Given the description of an element on the screen output the (x, y) to click on. 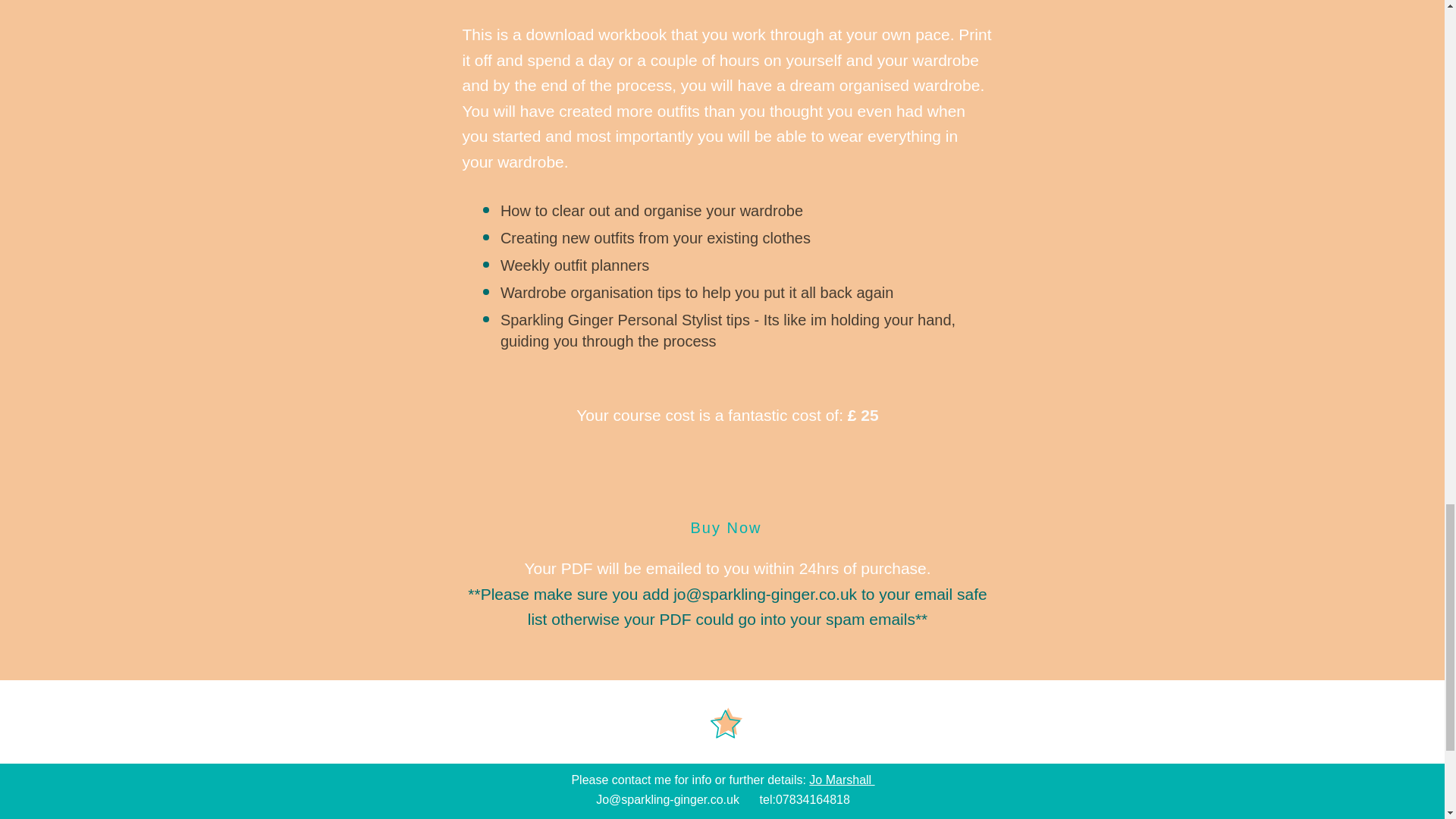
Buy Now (727, 526)
Jo Marshall  (842, 779)
